Given the description of an element on the screen output the (x, y) to click on. 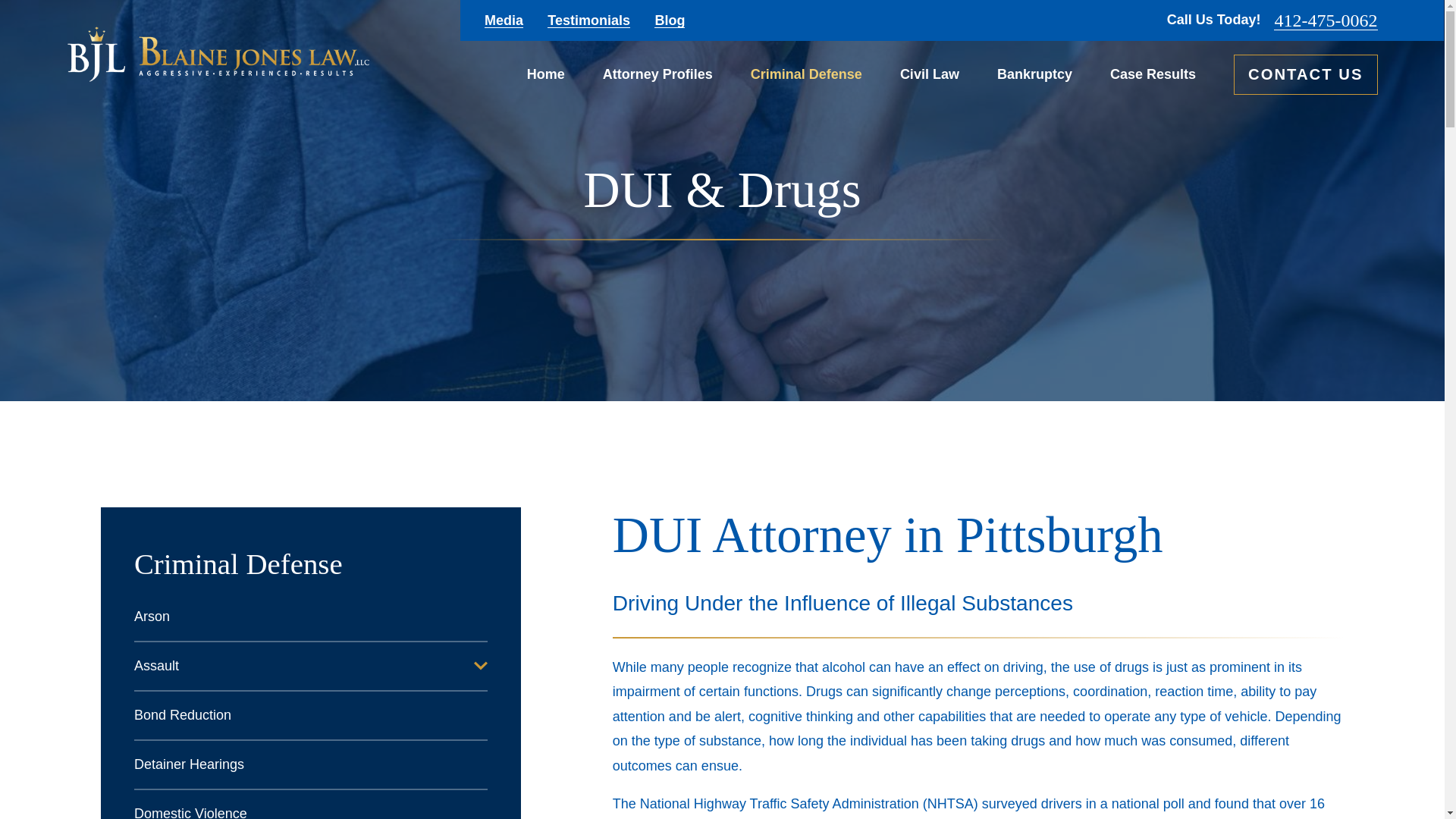
Blog (668, 20)
Home (545, 74)
412-475-0062 (1325, 20)
Home (217, 53)
Attorney Profiles (657, 74)
Open child menu of Assault (480, 665)
Testimonials (588, 20)
Criminal Defense (806, 74)
Media (503, 20)
